Given the description of an element on the screen output the (x, y) to click on. 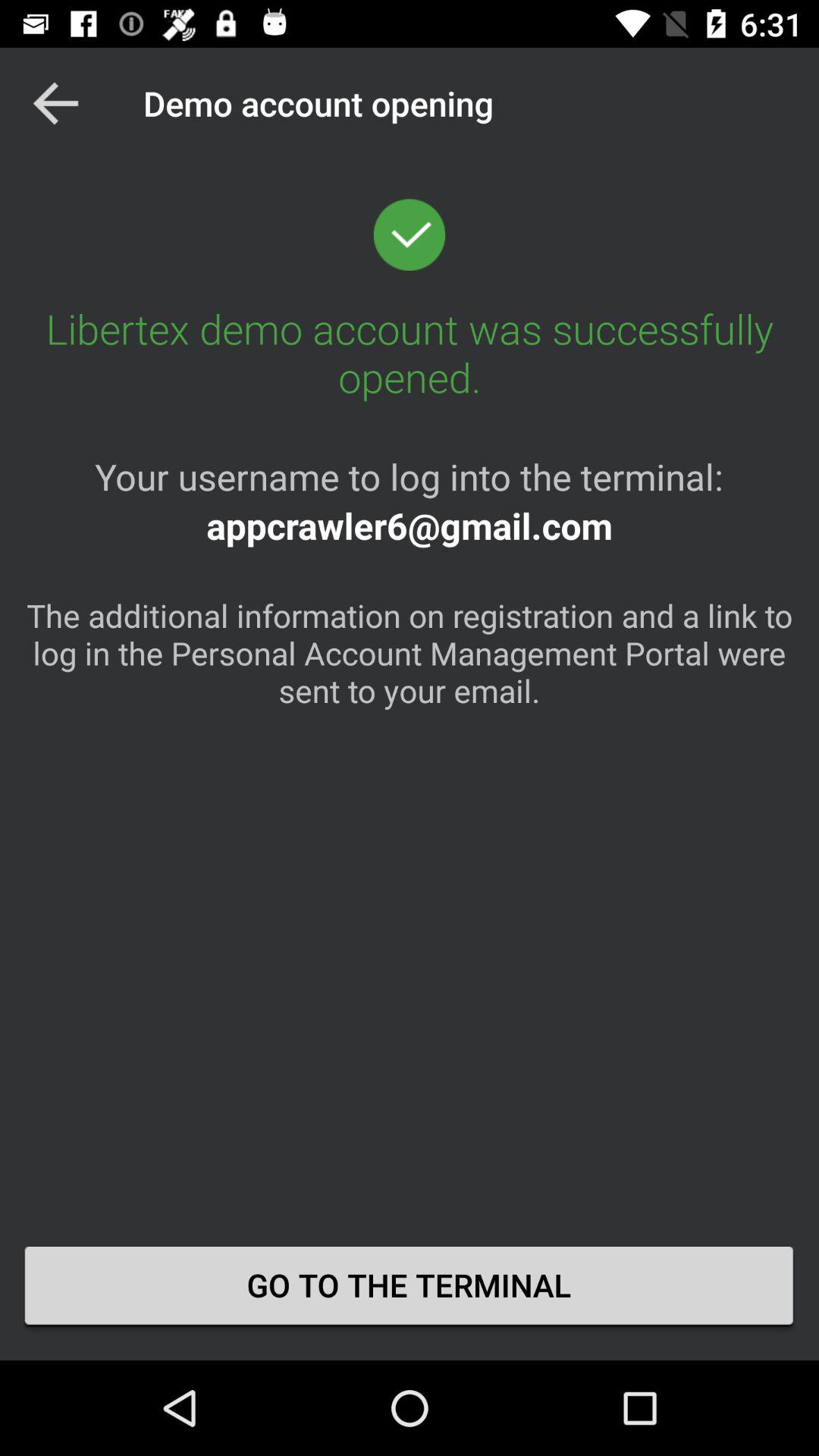
go to previous (55, 103)
